Given the description of an element on the screen output the (x, y) to click on. 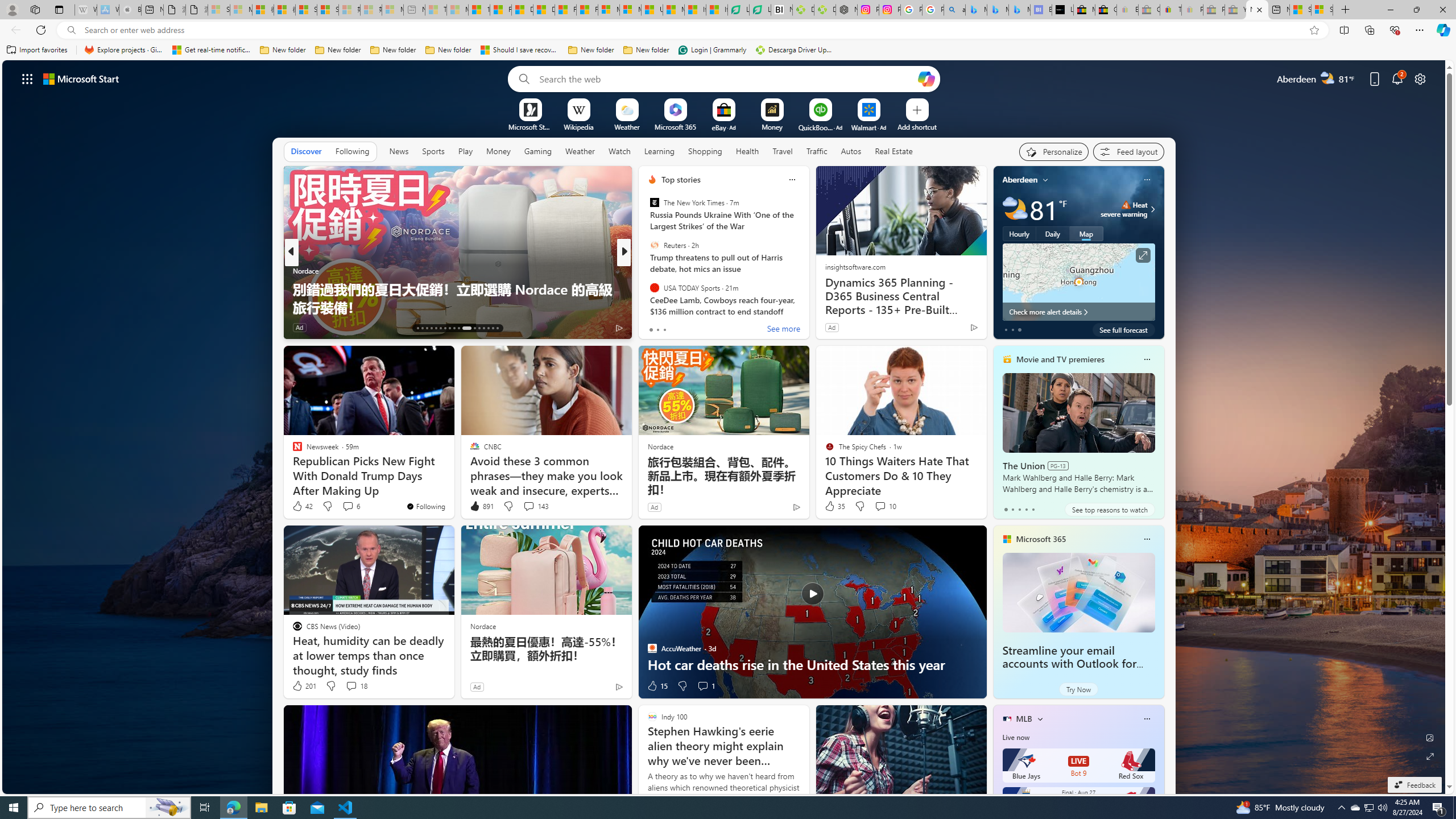
Should I save recovered Word documents? - Microsoft Support (519, 49)
Top Stories - MSN - Sleeping (435, 9)
The New York Times (654, 202)
Business Insider (647, 270)
AutomationID: tab-22 (458, 328)
Marine life - MSN - Sleeping (457, 9)
Click to see more information (1142, 255)
Microsoft start (81, 78)
Travel (782, 151)
